Given the description of an element on the screen output the (x, y) to click on. 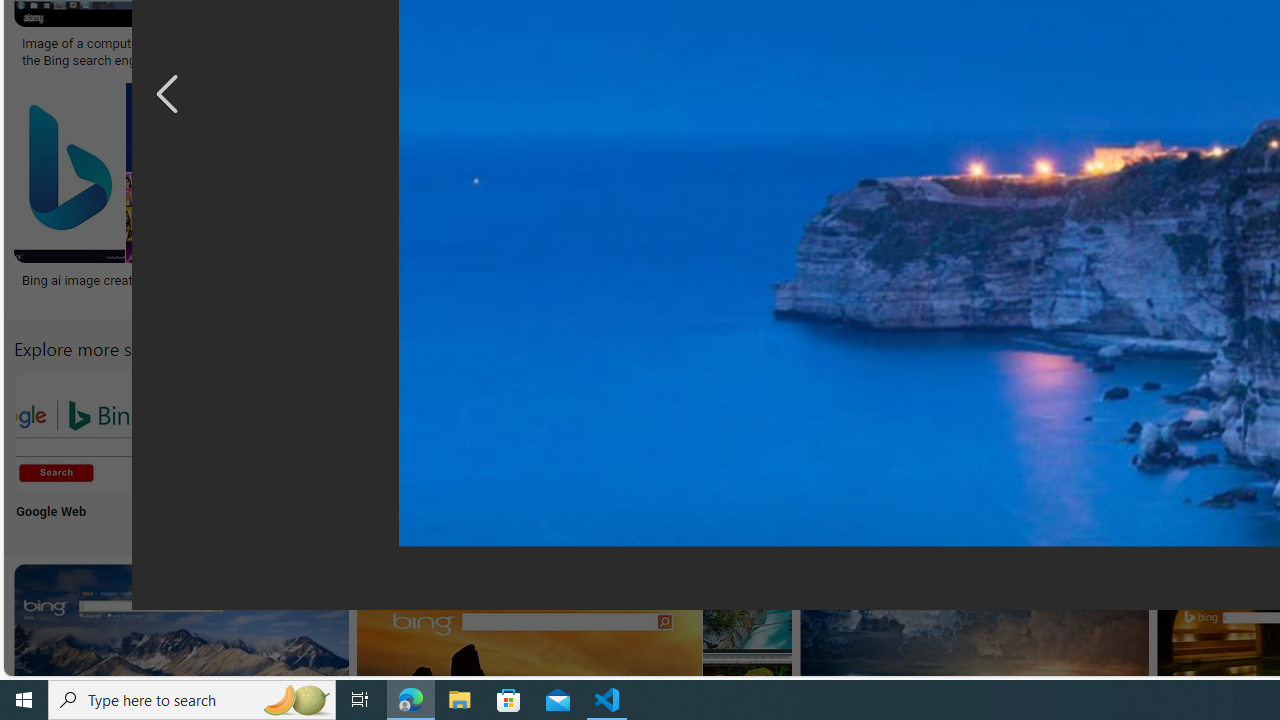
Bing (536, 279)
Bing Search Results (1131, 432)
Download Bing Pictures | Wallpapers.com (1075, 44)
FIX: Downloading proxy script message on Google Chrome (927, 287)
Image Search Bing Engine (423, 44)
Google Web Search Bing (75, 432)
Image Search Bing Engine (347, 44)
Bing (644, 279)
Clip Art (867, 450)
Bing Search App Logo App Logo (207, 450)
Bing Clip ART SEARCH Clip Art (867, 450)
Bing Search App Icon App Icon (735, 450)
Results (1131, 450)
Internet Explorer Bing Search (339, 432)
People (999, 450)
